Given the description of an element on the screen output the (x, y) to click on. 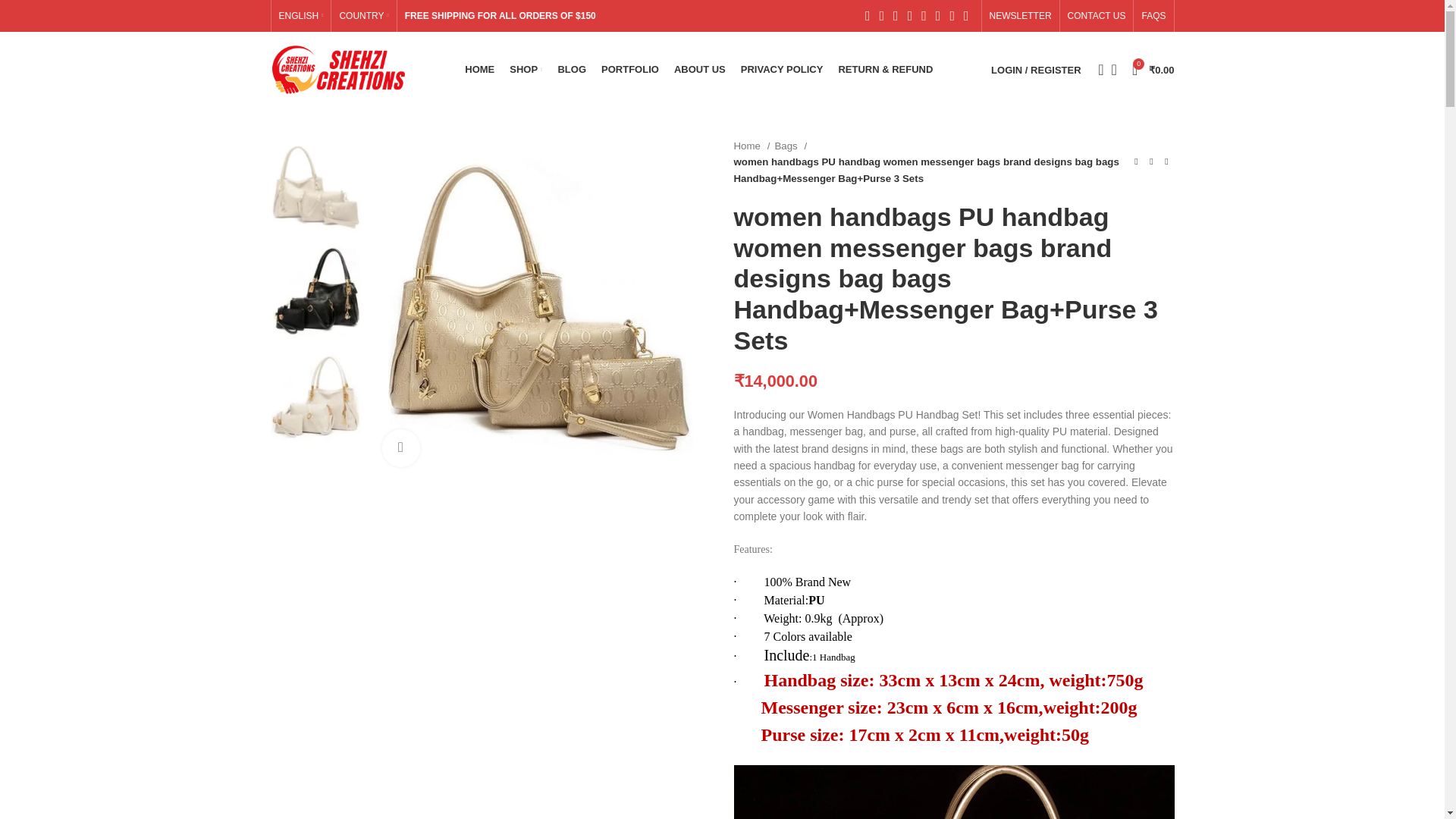
HOME (479, 69)
COUNTRY (363, 15)
ABOUT US (699, 69)
ENGLISH (301, 15)
NEWSLETTER (1020, 15)
My account (1035, 69)
496802638 (539, 308)
CONTACT US (1096, 15)
Shopping cart (1153, 69)
BLOG (571, 69)
SHOP (525, 69)
PORTFOLIO (630, 69)
